Given the description of an element on the screen output the (x, y) to click on. 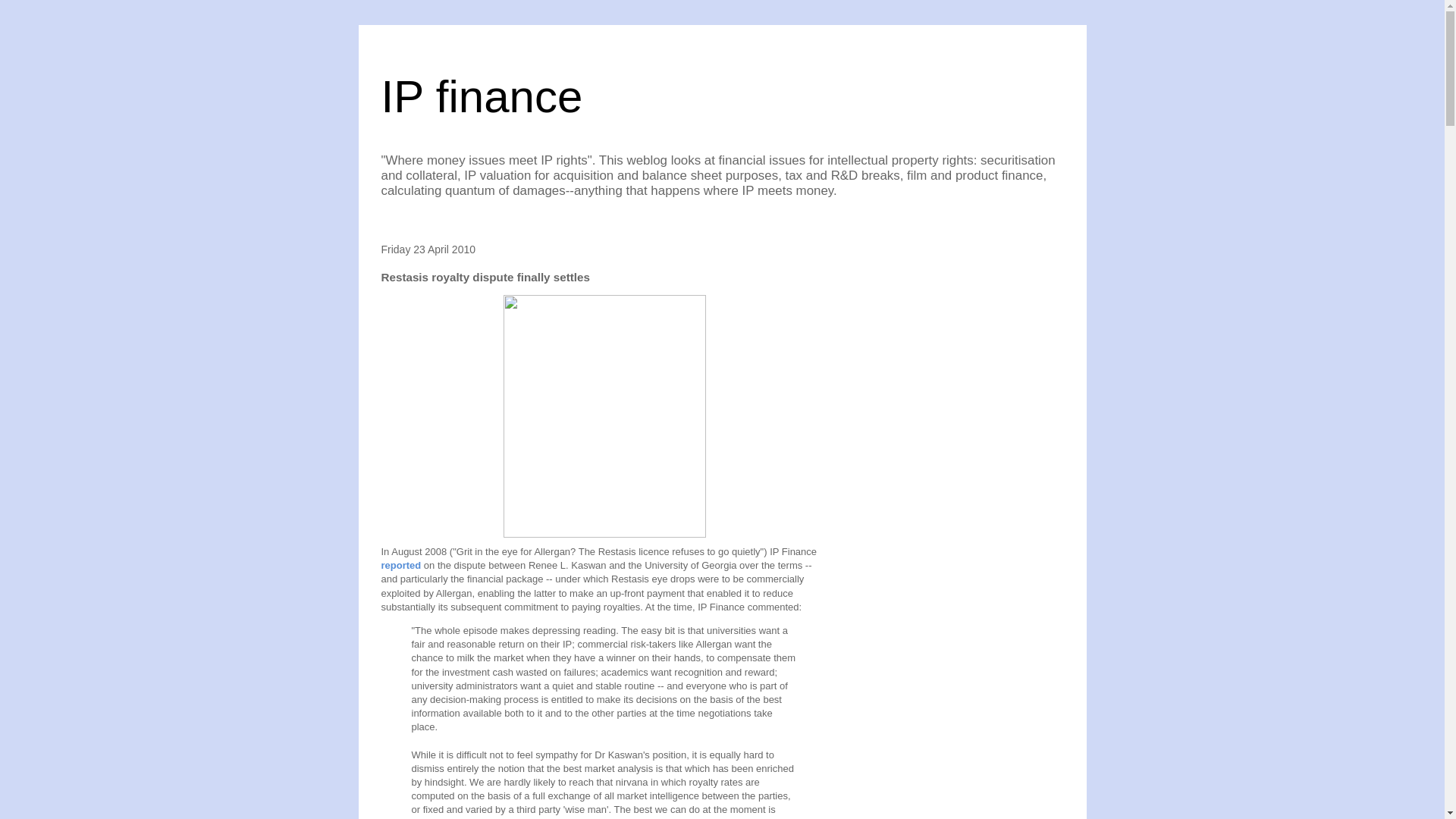
IP finance (481, 96)
reported (400, 564)
